Given the description of an element on the screen output the (x, y) to click on. 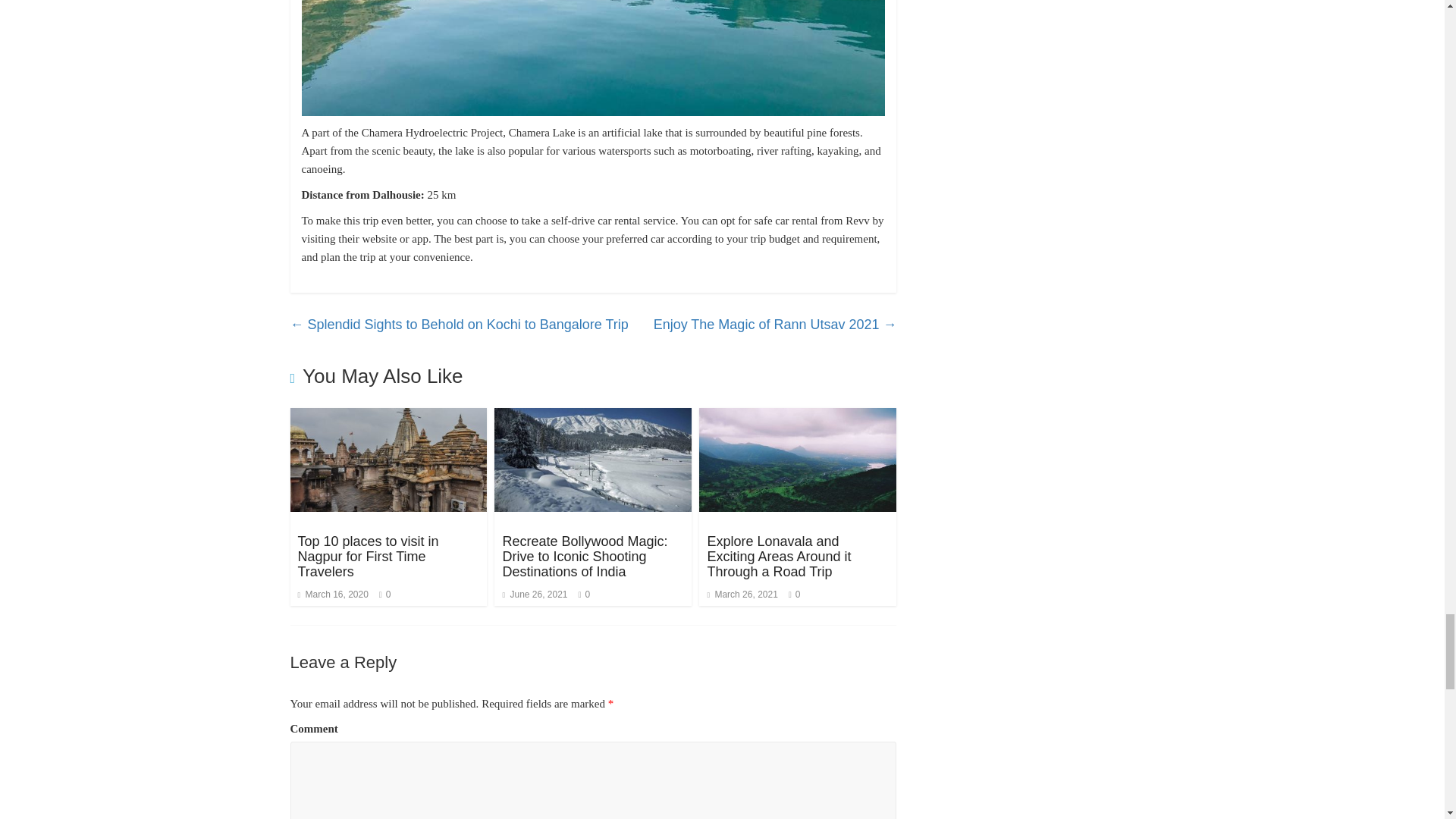
10:07 am (534, 593)
9:38 am (332, 593)
Top 10 places to visit in Nagpur for First Time Travelers (367, 556)
Top 10 places to visit in Nagpur for First Time Travelers (387, 458)
